Given the description of an element on the screen output the (x, y) to click on. 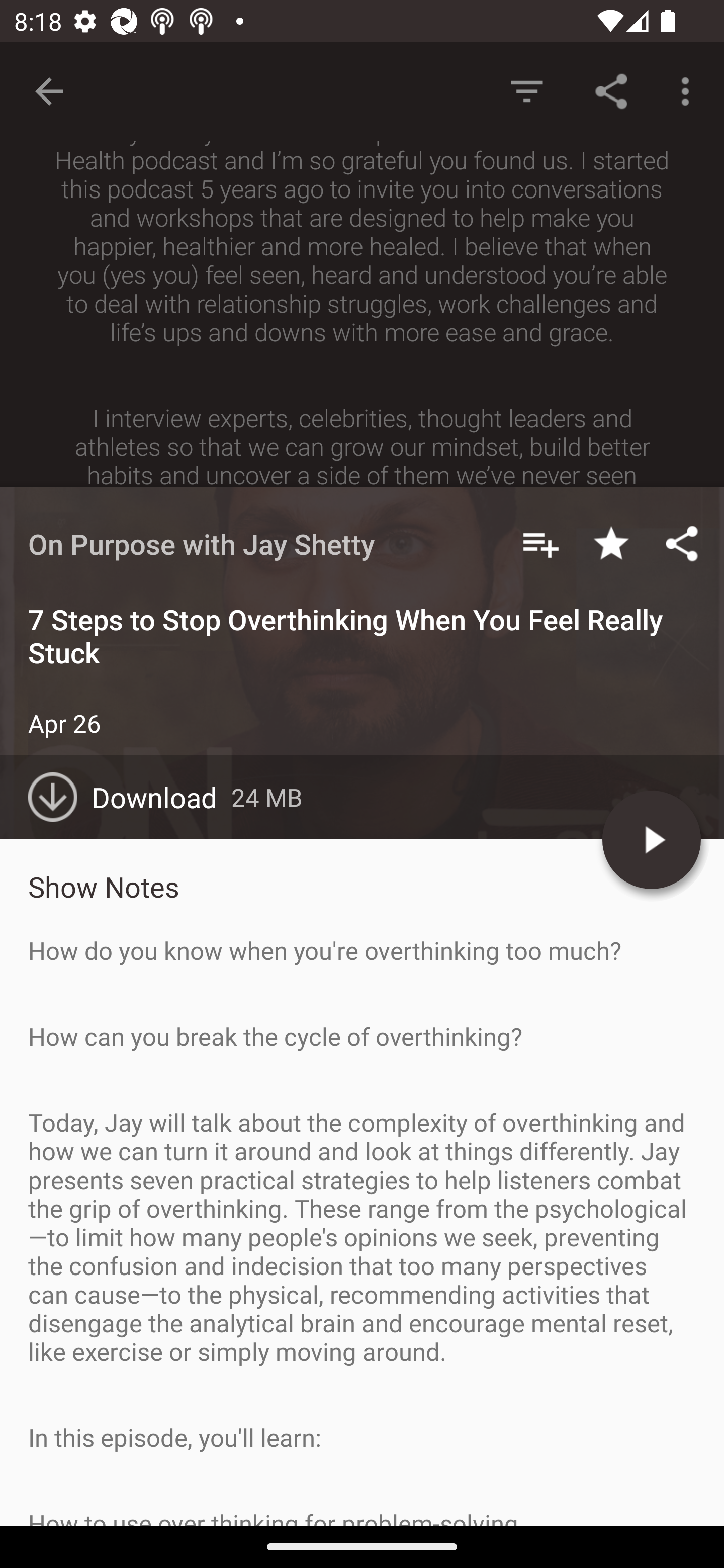
Download (129, 797)
